Given the description of an element on the screen output the (x, y) to click on. 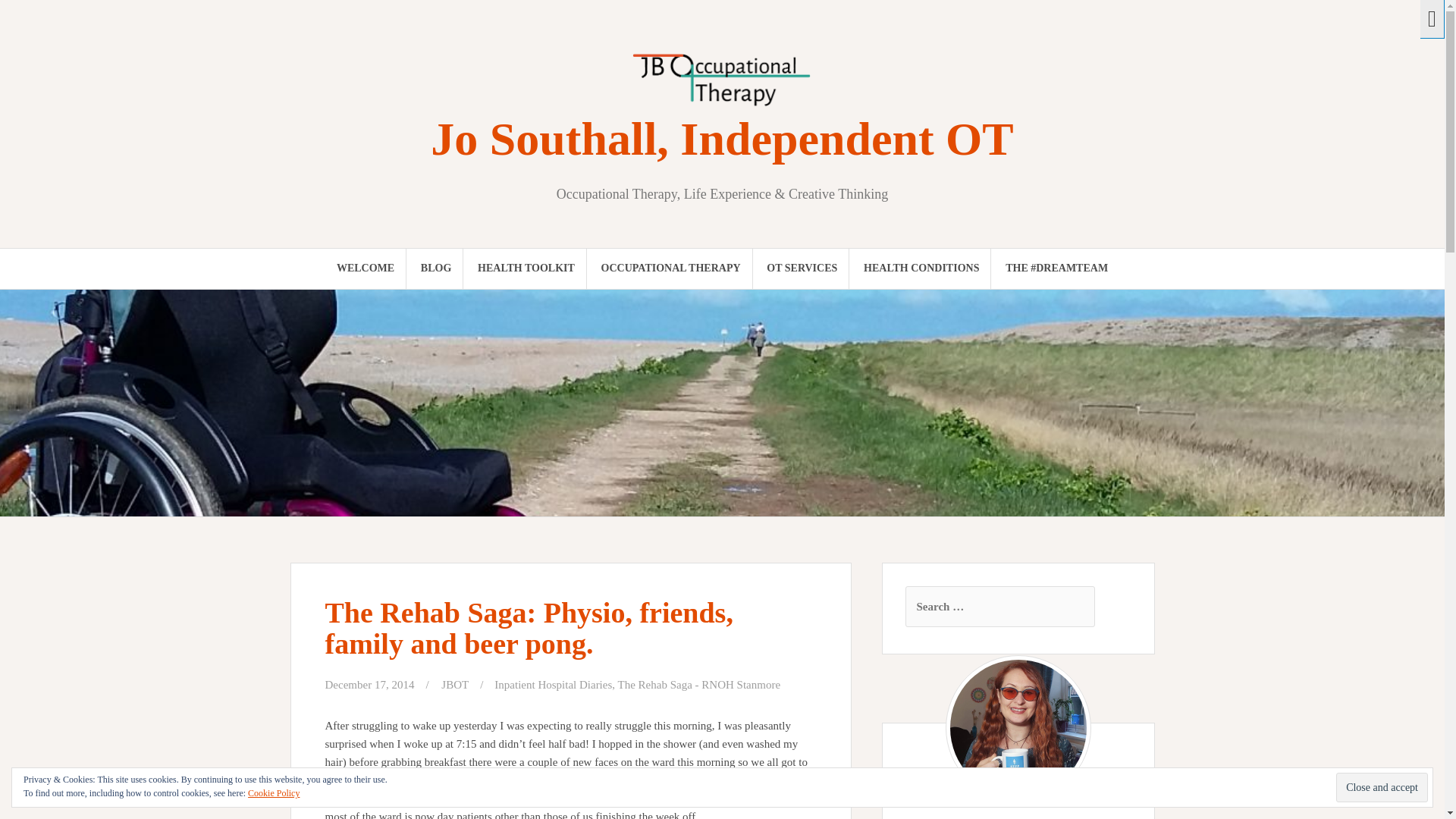
HEALTH TOOLKIT (526, 268)
BLOG (435, 268)
HEALTH CONDITIONS (920, 268)
OT SERVICES (802, 268)
Jo Southall, Independent OT (721, 138)
OCCUPATIONAL THERAPY (671, 268)
WELCOME (365, 268)
Close and accept (1382, 787)
